Given the description of an element on the screen output the (x, y) to click on. 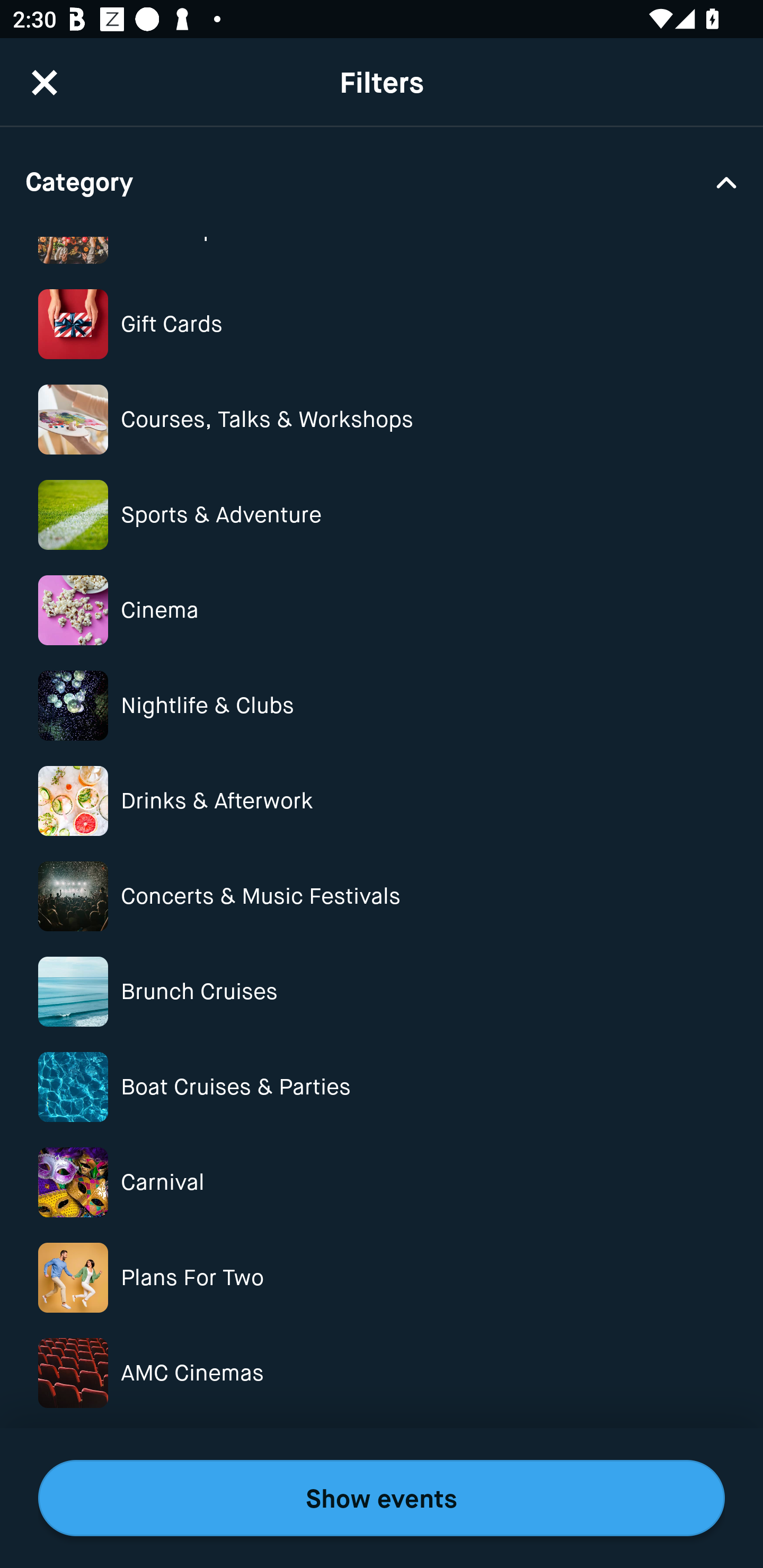
Category Drop Down Arrow (381, 181)
Category Image Gift Cards (381, 323)
Category Image Courses, Talks & Workshops (381, 419)
Category Image Sports & Adventure (381, 514)
Category Image Cinema (381, 610)
Category Image Nightlife & Clubs (381, 705)
Category Image Drinks & Afterwork (381, 800)
Category Image Concerts & Music Festivals (381, 895)
Category Image Brunch Cruises (381, 991)
Category Image Boat Cruises & Parties (381, 1086)
Category Image Carnival (381, 1181)
Category Image Plans For Two (381, 1277)
Category Image AMC Cinemas (381, 1372)
Show events (381, 1497)
